Given the description of an element on the screen output the (x, y) to click on. 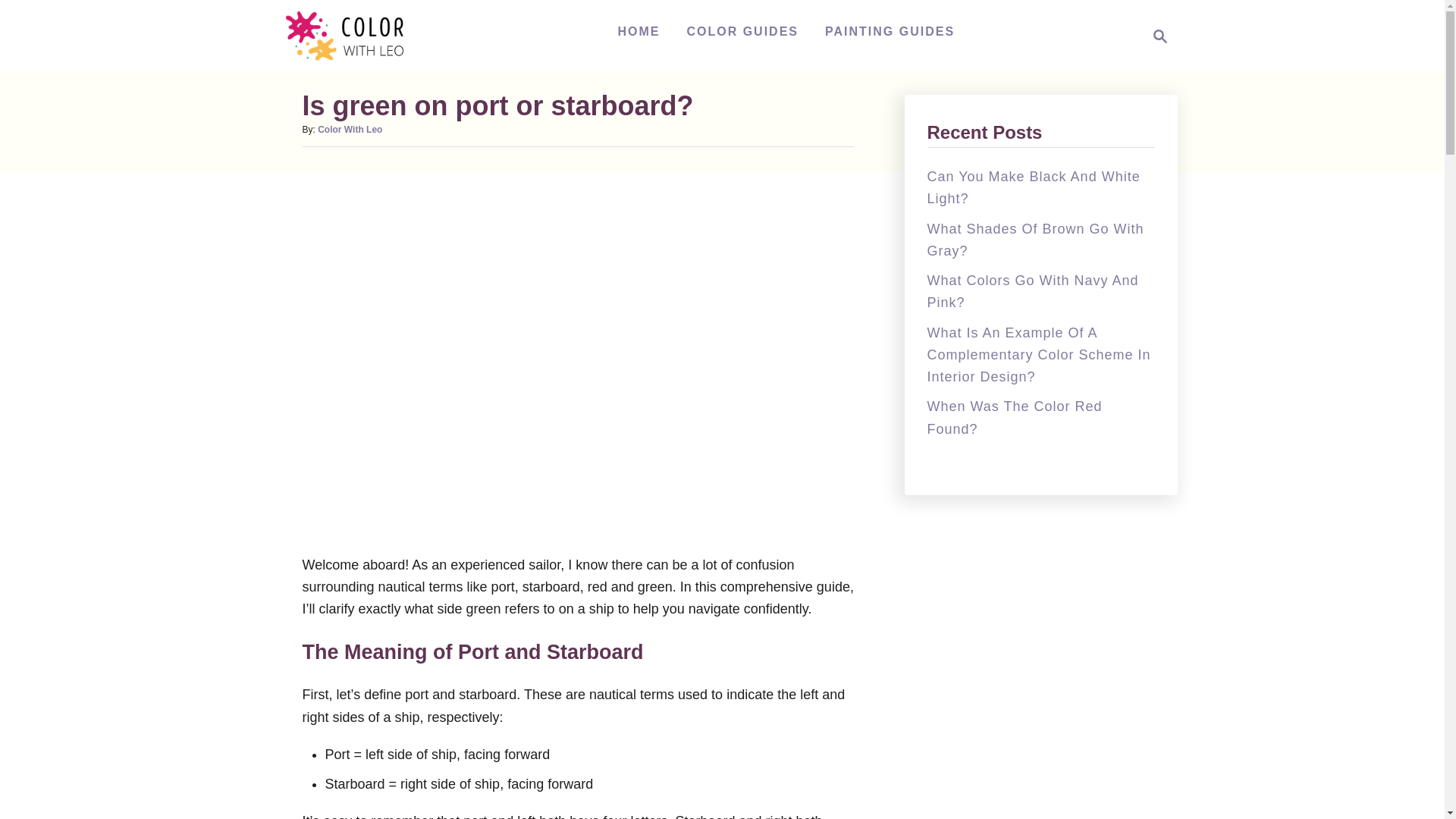
Color With Leo (353, 35)
HOME (638, 31)
PAINTING GUIDES (889, 31)
Can You Make Black And White Light? (1033, 187)
Color With Leo (349, 129)
What Shades Of Brown Go With Gray? (1034, 239)
Magnifying Glass (1160, 36)
COLOR GUIDES (742, 31)
When Was The Color Red Found? (1014, 416)
What Colors Go With Navy And Pink? (1155, 36)
